Given the description of an element on the screen output the (x, y) to click on. 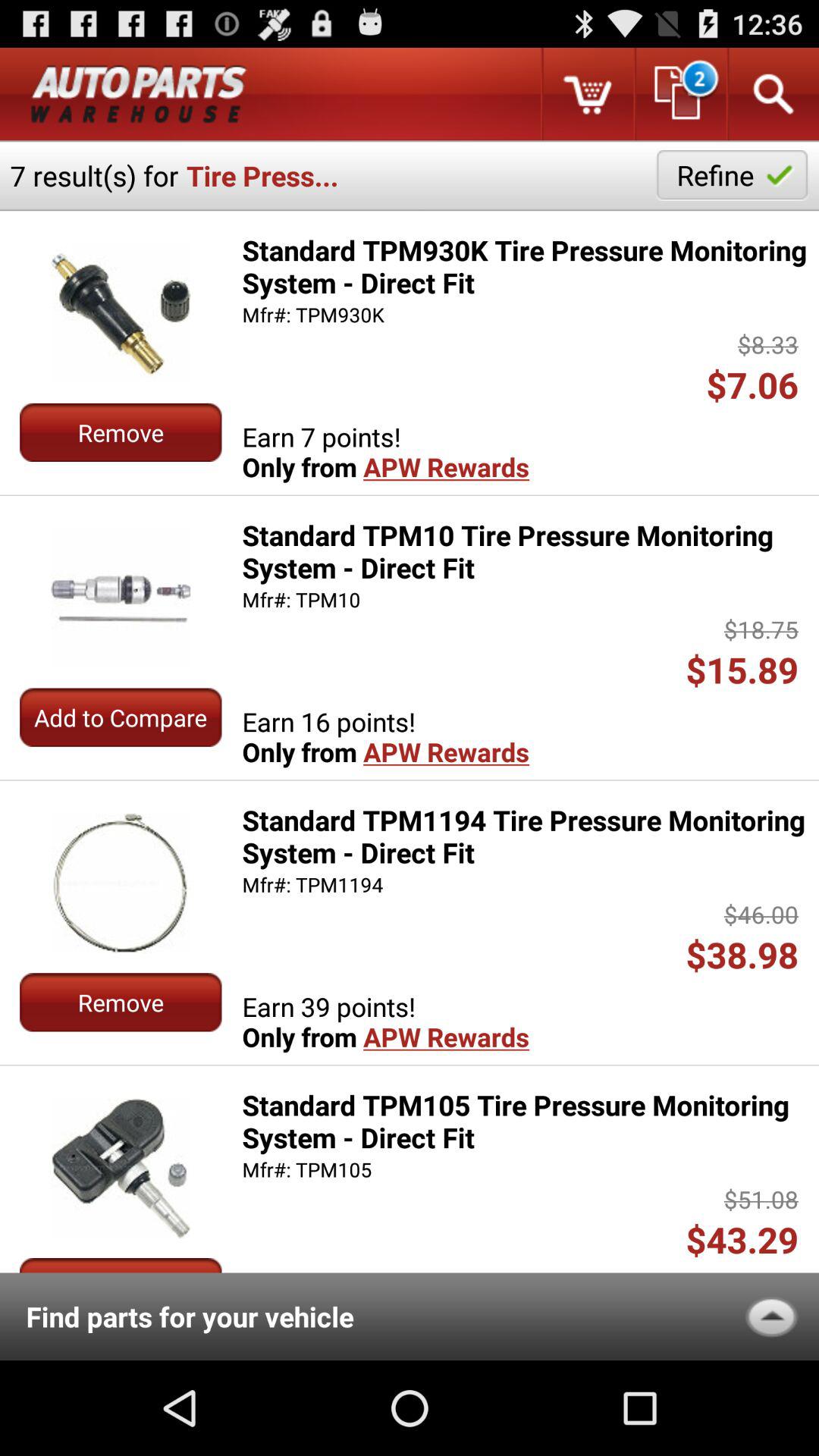
categeroy name (138, 93)
